Given the description of an element on the screen output the (x, y) to click on. 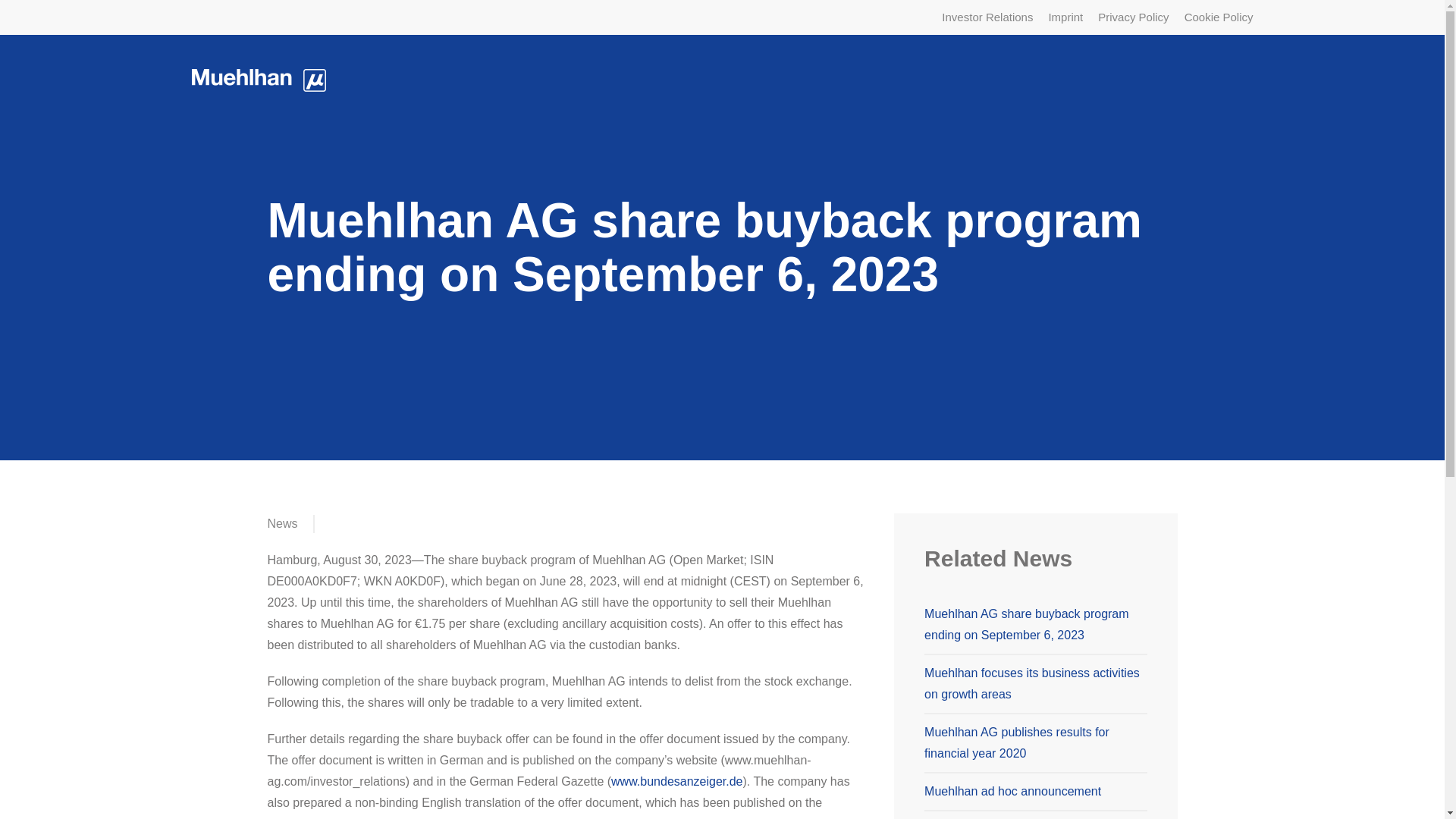
Muehlhan ad hoc announcement (1012, 790)
News (281, 523)
Privacy Policy (1133, 17)
Imprint (1065, 17)
Muehlhan focuses its business activities on growth areas (1032, 683)
Cookie Policy (1219, 17)
